Given the description of an element on the screen output the (x, y) to click on. 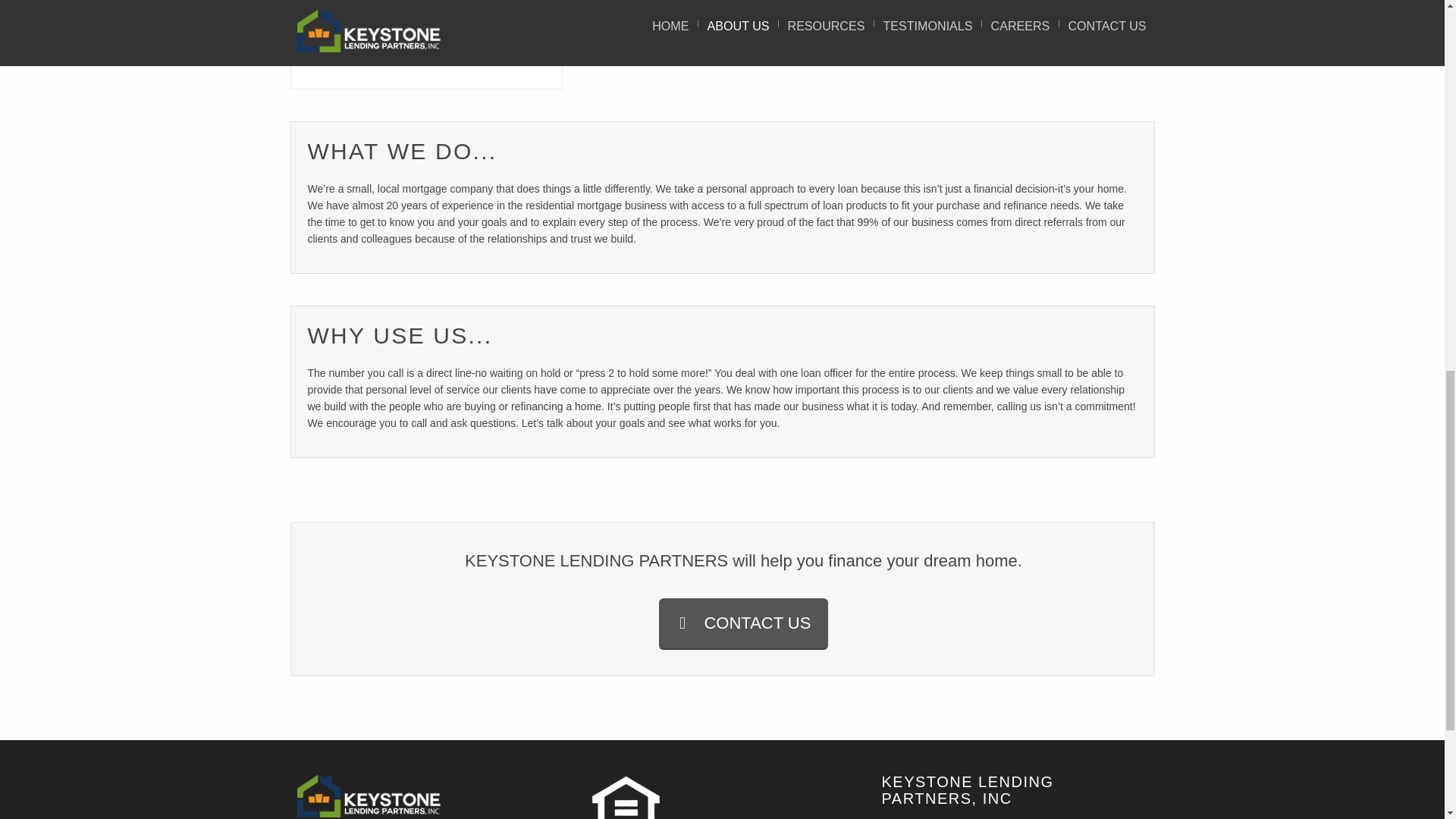
215-284-2062 (673, 4)
CONTACT US (743, 623)
